Given the description of an element on the screen output the (x, y) to click on. 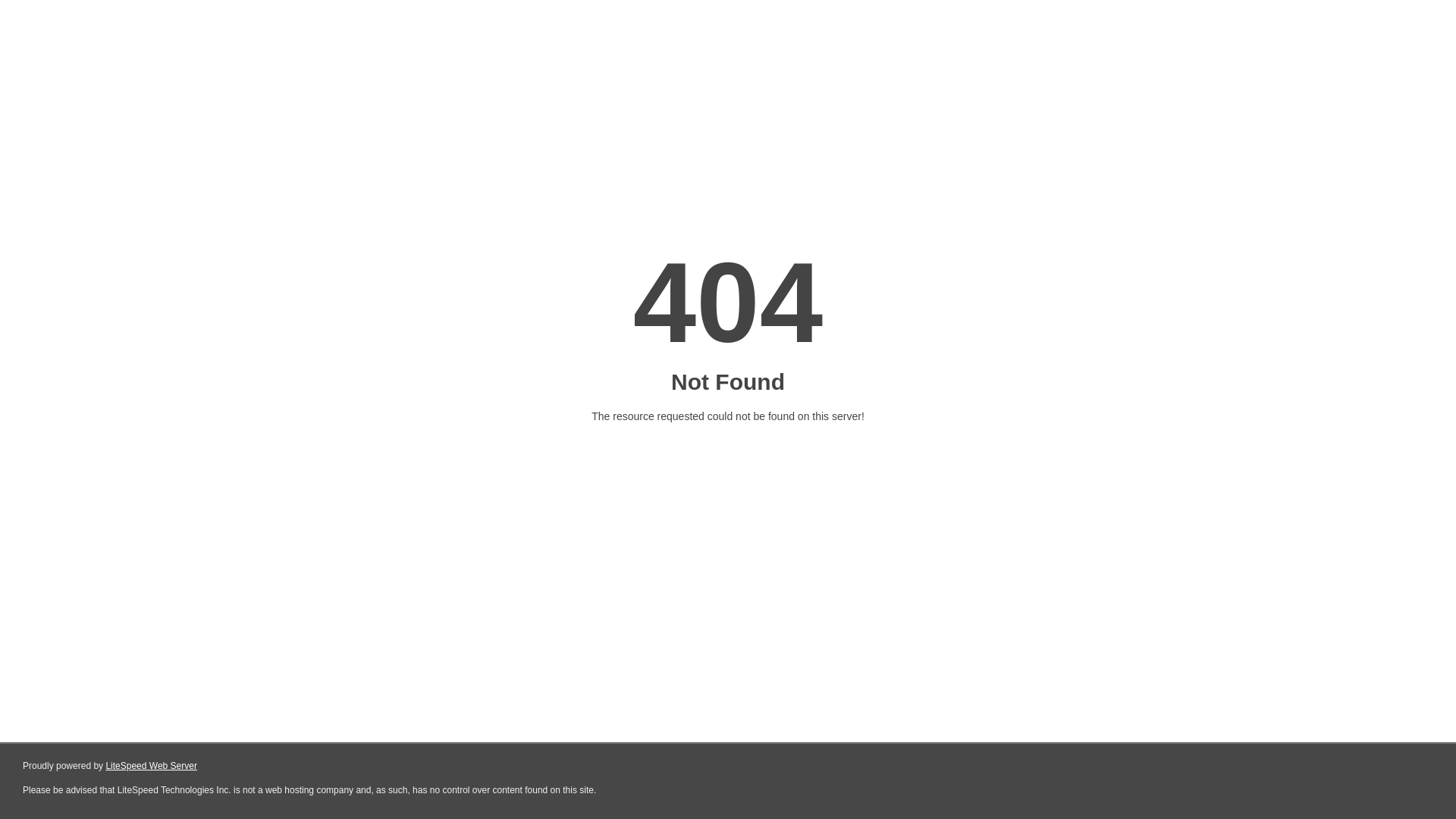
LiteSpeed Web Server Element type: text (151, 765)
